Given the description of an element on the screen output the (x, y) to click on. 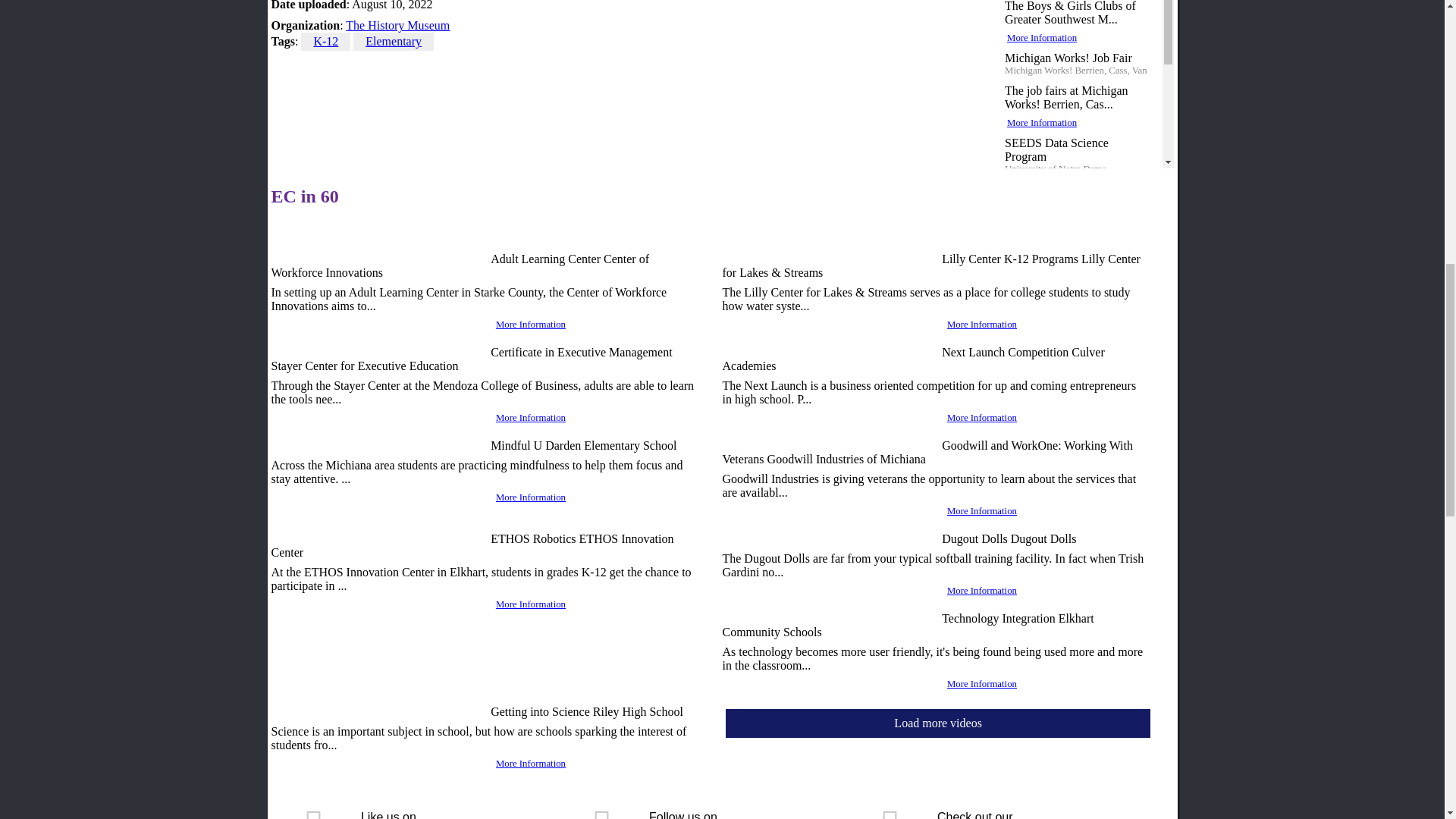
K-12 (325, 41)
Elementary (393, 41)
The History Museum (397, 24)
